Given the description of an element on the screen output the (x, y) to click on. 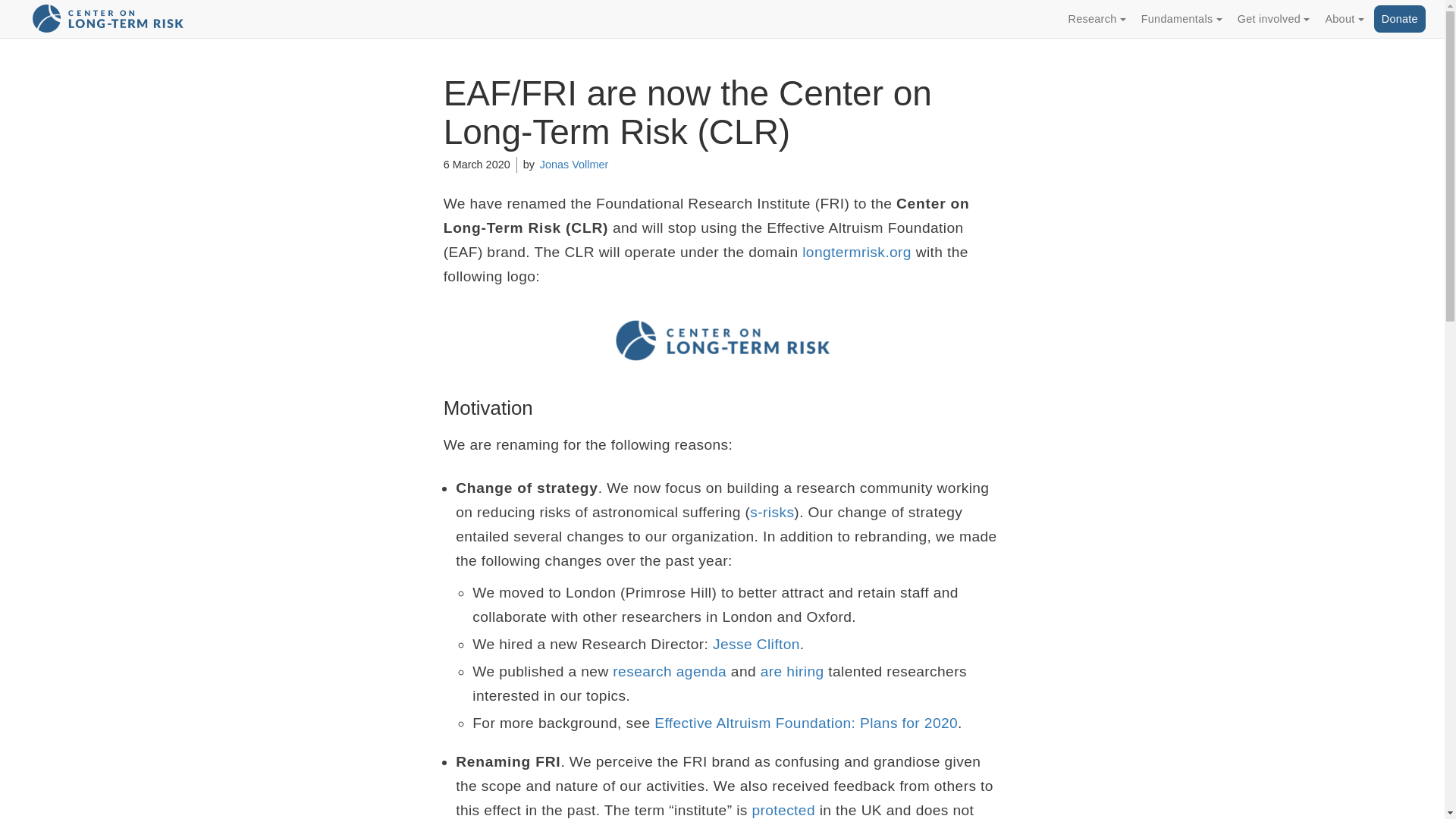
Fundamentals (1177, 18)
longtermrisk.org (856, 252)
research agenda (669, 671)
Jonas Vollmer (572, 164)
Fundamentals (1177, 18)
Get involved (1269, 18)
About (1340, 18)
Research (1093, 18)
Donate (1399, 18)
Effective Altruism Foundation: Plans for 2020 (805, 722)
